Given the description of an element on the screen output the (x, y) to click on. 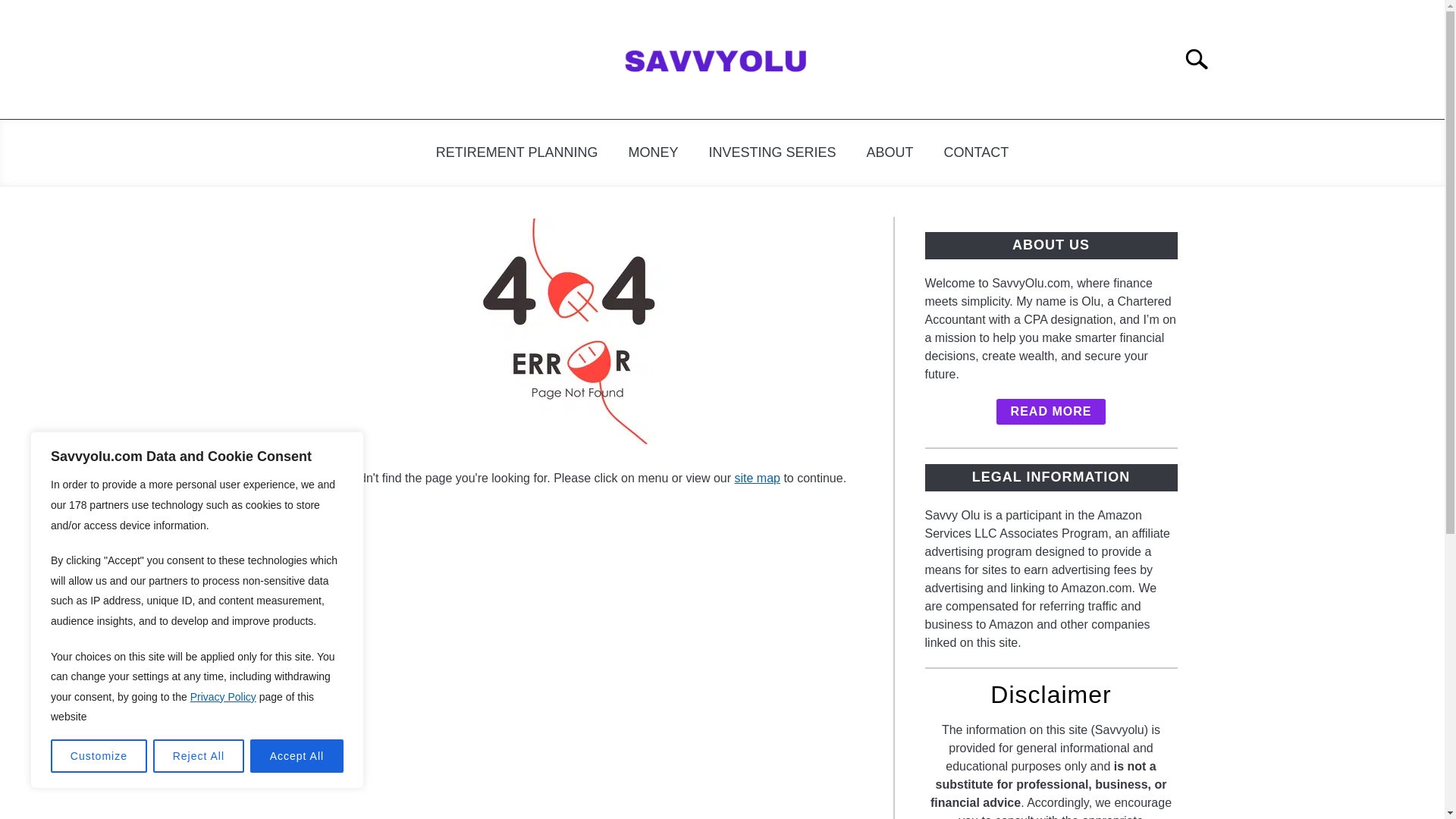
Customize (98, 756)
Accept All (296, 756)
Search (1203, 58)
INVESTING SERIES (771, 152)
CONTACT (976, 152)
Reject All (198, 756)
MONEY (652, 152)
site map (755, 477)
READ MORE (1050, 411)
ABOUT (889, 152)
Privacy Policy (223, 696)
RETIREMENT PLANNING (516, 152)
